Given the description of an element on the screen output the (x, y) to click on. 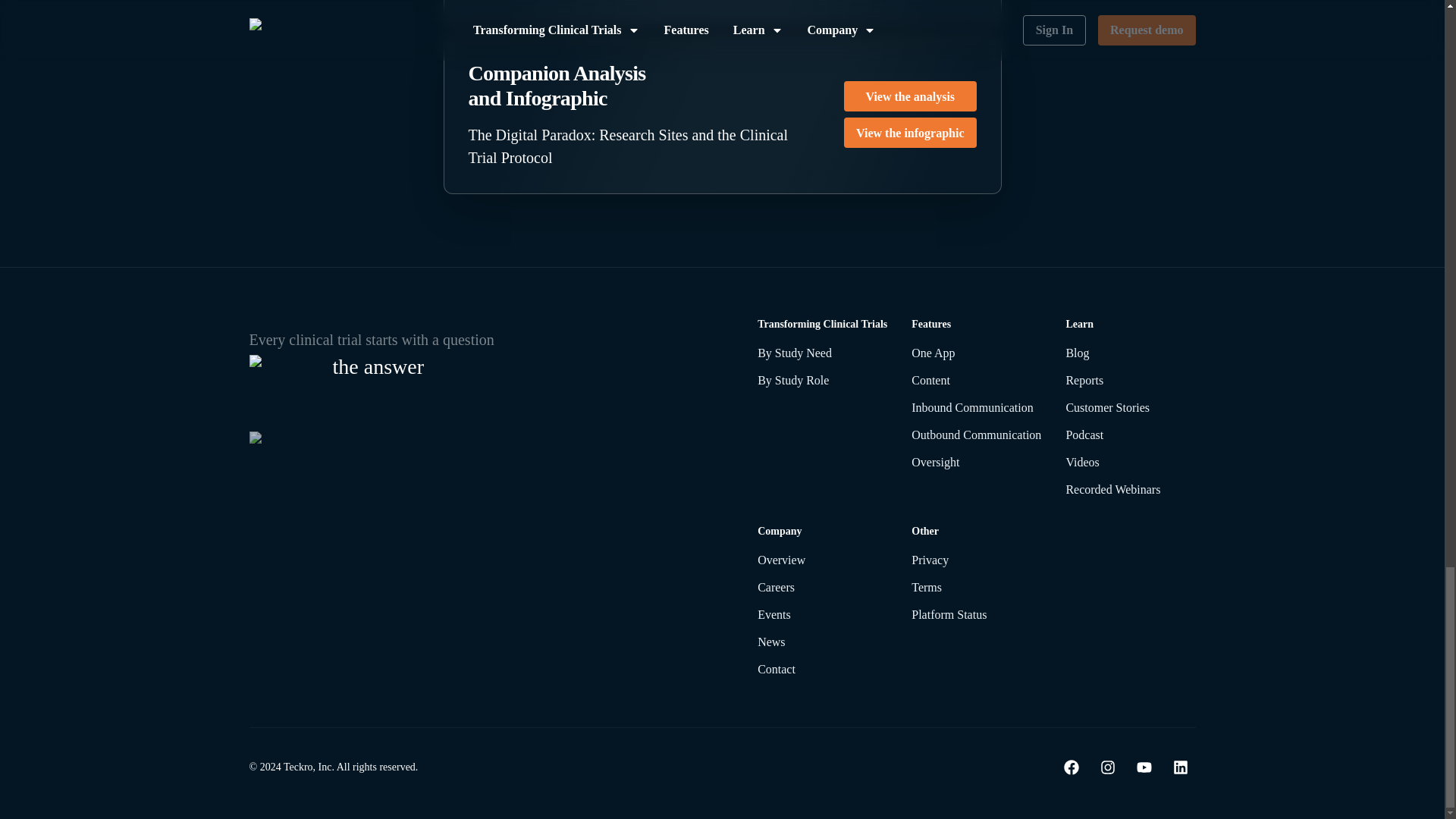
By Study Need (821, 352)
Inbound Communication (976, 407)
One App (976, 352)
Videos (1130, 462)
Overview (821, 560)
Oversight (976, 462)
Customer Stories (1130, 407)
By Study Role (821, 380)
Recorded Webinars (1130, 489)
Outbound Communication (976, 434)
Blog (1130, 352)
Reports (1130, 380)
View the analysis (910, 96)
Content (976, 380)
Podcast (1130, 434)
